Given the description of an element on the screen output the (x, y) to click on. 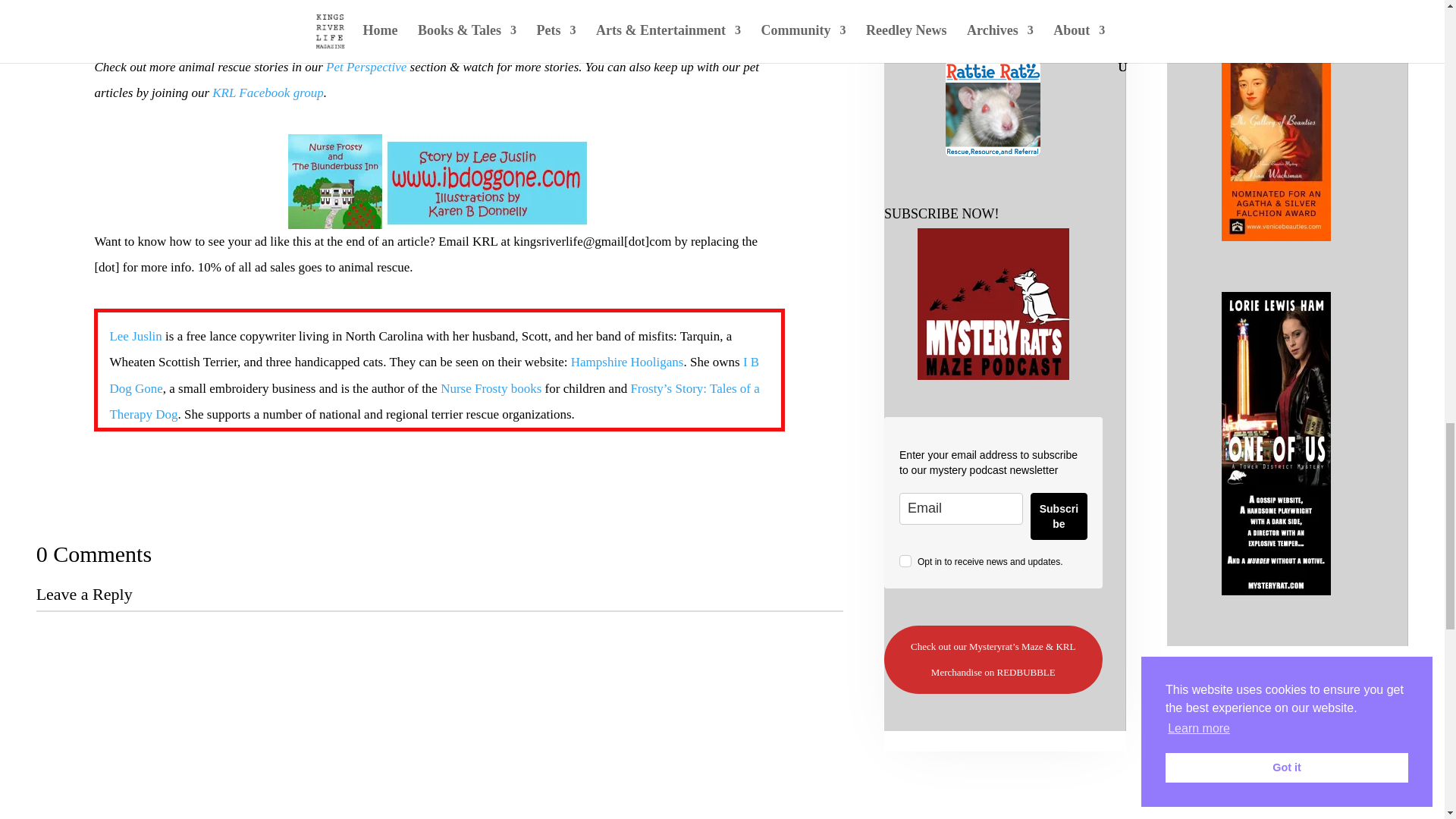
Subscribe now! (992, 304)
Opens to I B Dog Gone (433, 374)
Opens to pet section (366, 66)
Opens to Lee's website (627, 361)
Opens to Nurse Frosty Stories (491, 388)
Opens to info on Frostry's Story (433, 401)
